Given the description of an element on the screen output the (x, y) to click on. 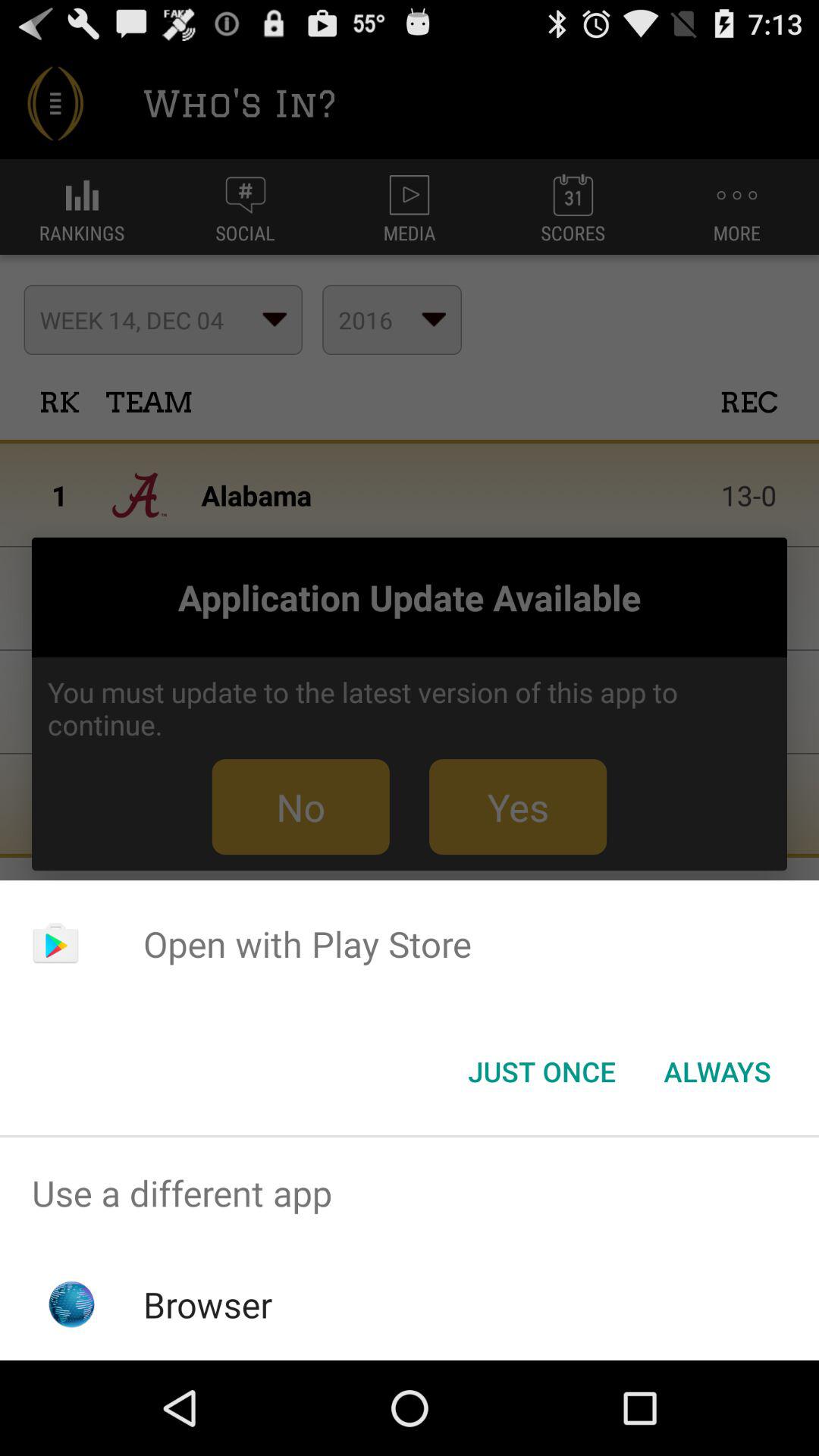
select the app below the use a different icon (207, 1304)
